Given the description of an element on the screen output the (x, y) to click on. 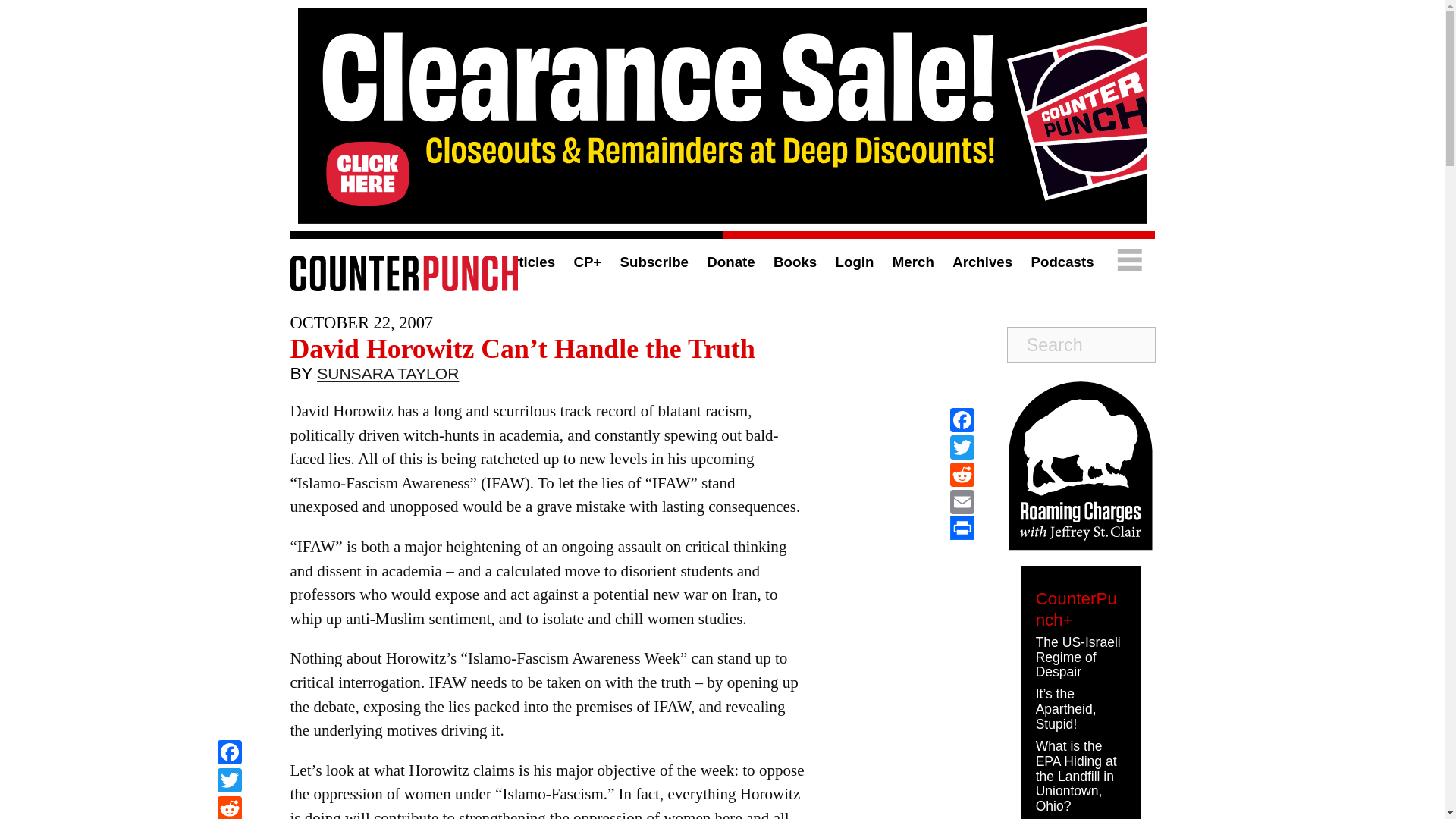
Reddit (229, 807)
Twitter (229, 782)
Reddit (229, 807)
Email (962, 501)
Facebook (229, 754)
Merch (913, 261)
Reddit (962, 474)
Archives (981, 261)
Print This Post (962, 527)
Podcasts (1061, 261)
Articles (528, 261)
Twitter (229, 782)
Facebook (962, 420)
Subscribe (654, 261)
Facebook (229, 754)
